Given the description of an element on the screen output the (x, y) to click on. 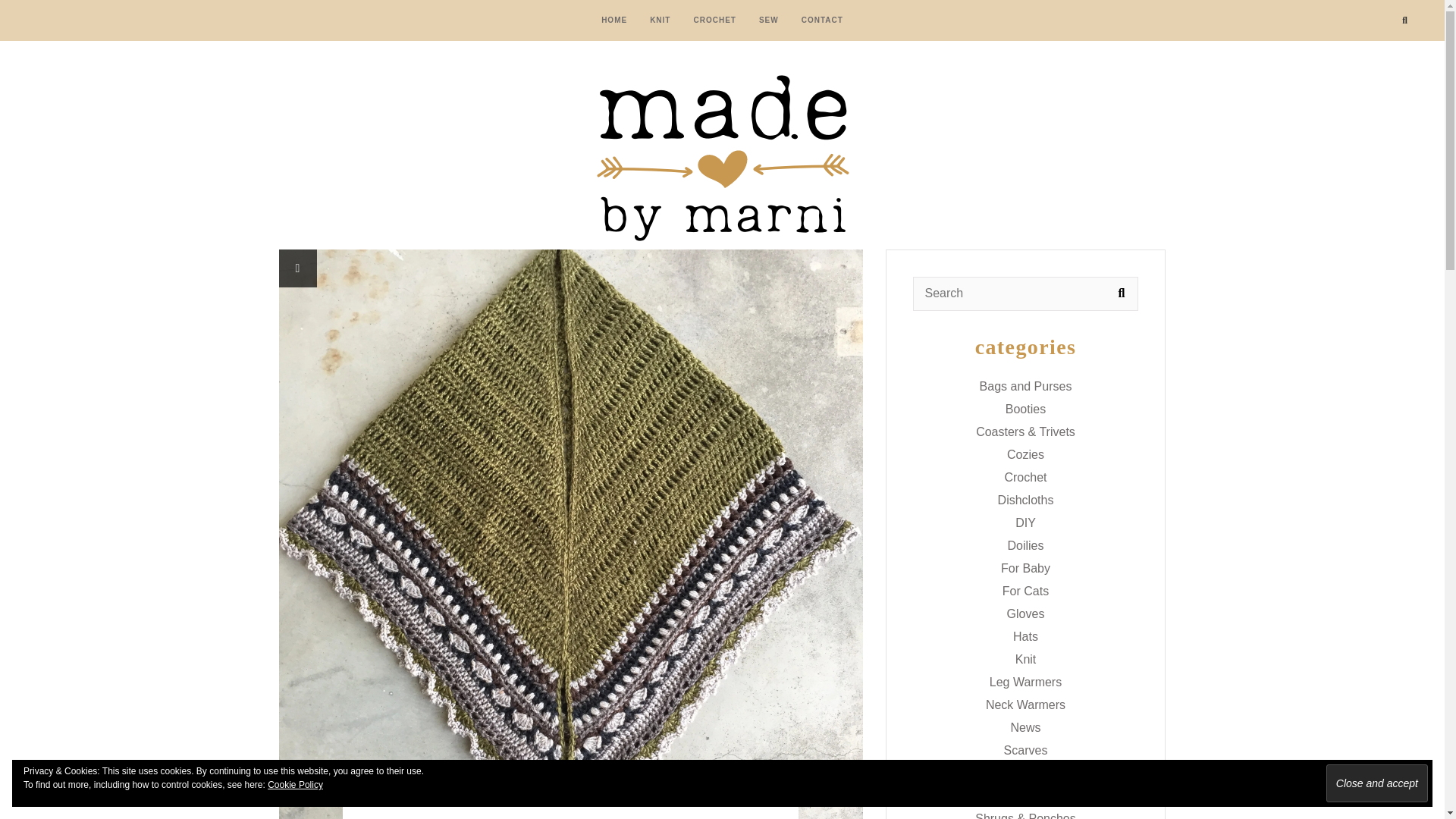
home (614, 20)
KNIT (660, 20)
crochet (713, 20)
Search (1120, 293)
Booties (1025, 408)
CROCHET (713, 20)
SEW (769, 20)
Bags and Purses (1025, 385)
CONTACT (822, 20)
knit (660, 20)
CROCHET (570, 801)
Close and accept (1377, 783)
Cozies (1025, 453)
contact (822, 20)
HOME (614, 20)
